Given the description of an element on the screen output the (x, y) to click on. 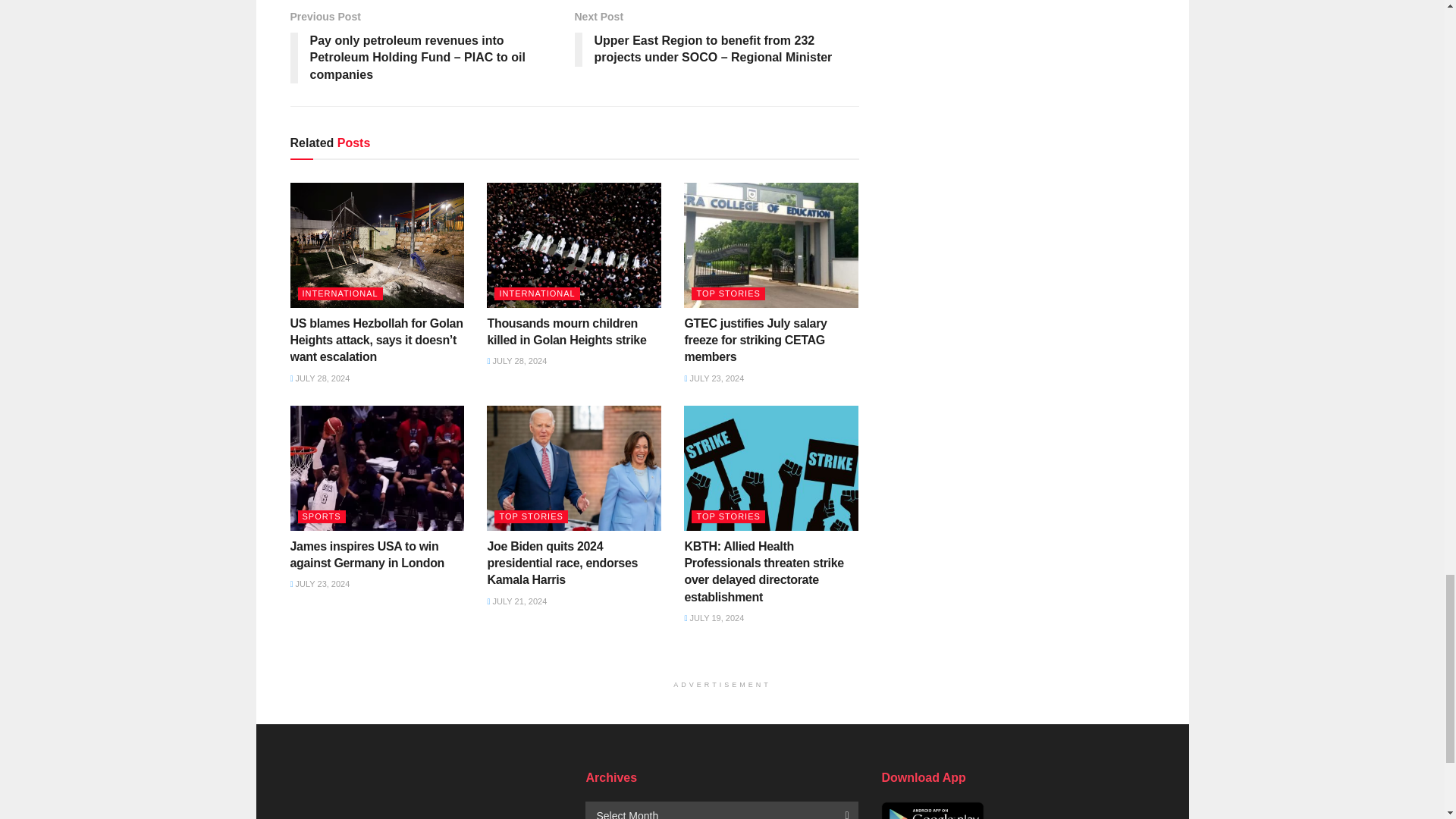
Google Play (932, 810)
